Given the description of an element on the screen output the (x, y) to click on. 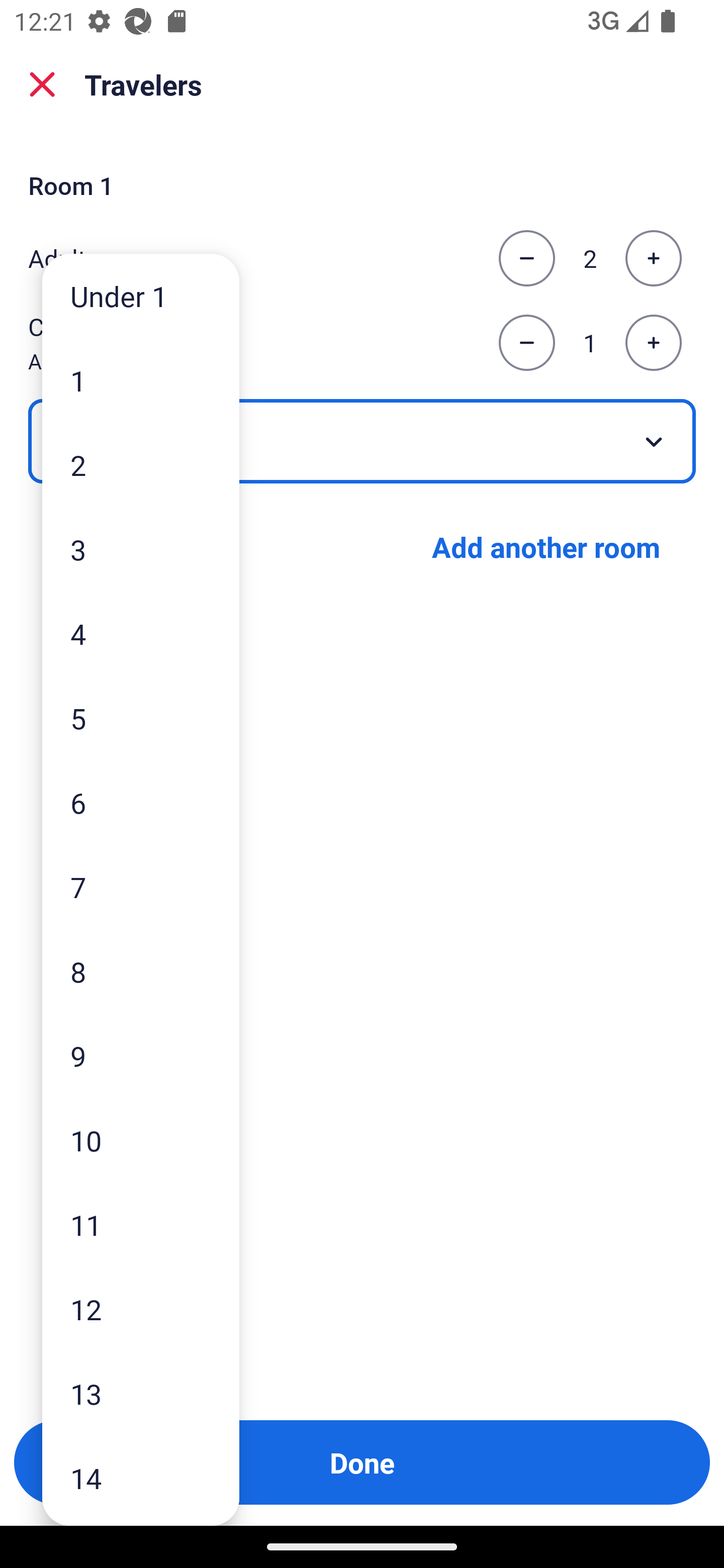
Under 1 (140, 296)
1 (140, 380)
2 (140, 464)
3 (140, 548)
4 (140, 633)
5 (140, 717)
6 (140, 802)
7 (140, 887)
8 (140, 970)
9 (140, 1054)
10 (140, 1139)
11 (140, 1224)
12 (140, 1308)
13 (140, 1393)
14 (140, 1478)
